Given the description of an element on the screen output the (x, y) to click on. 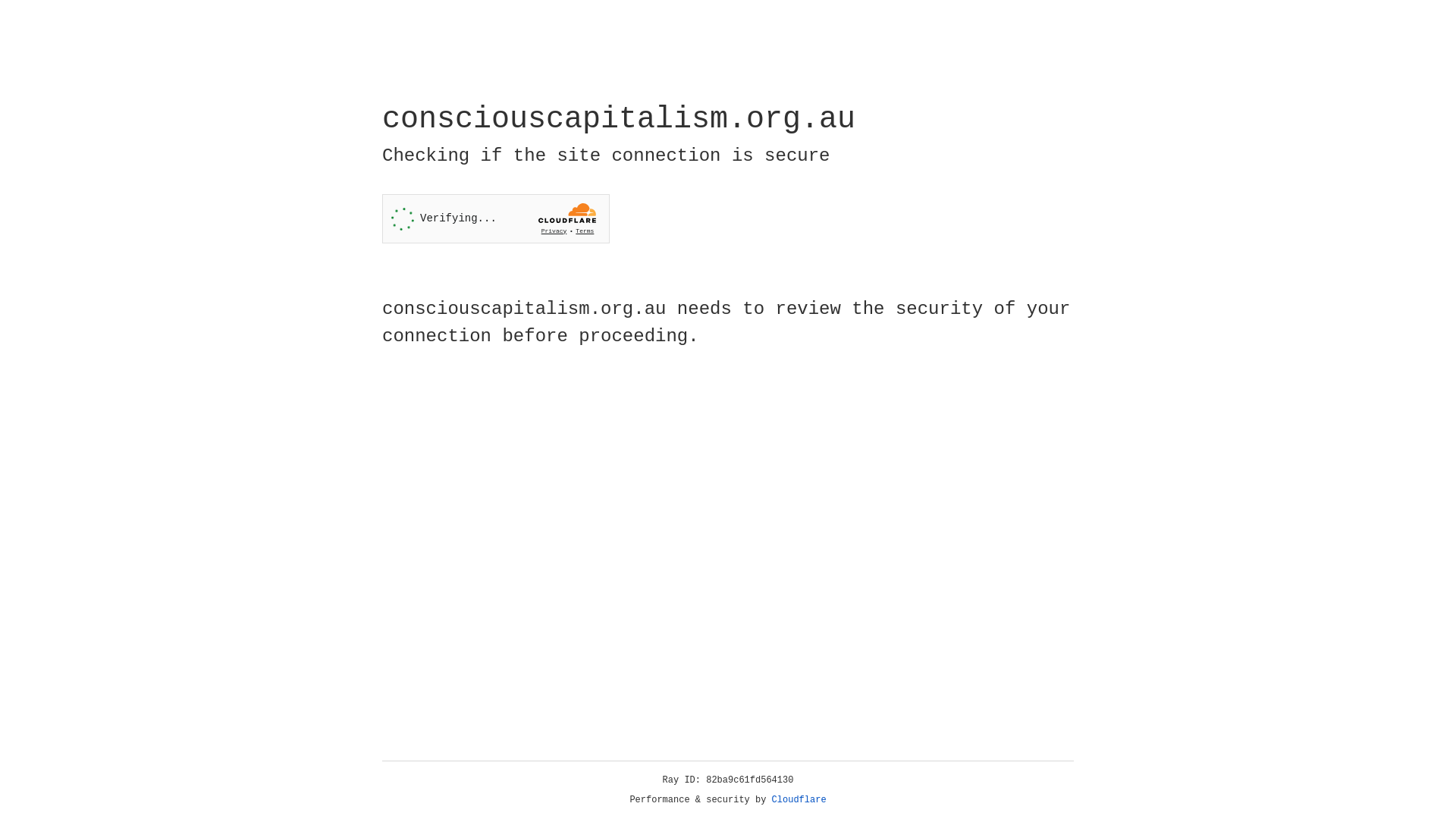
Widget containing a Cloudflare security challenge Element type: hover (495, 218)
Cloudflare Element type: text (798, 799)
